Given the description of an element on the screen output the (x, y) to click on. 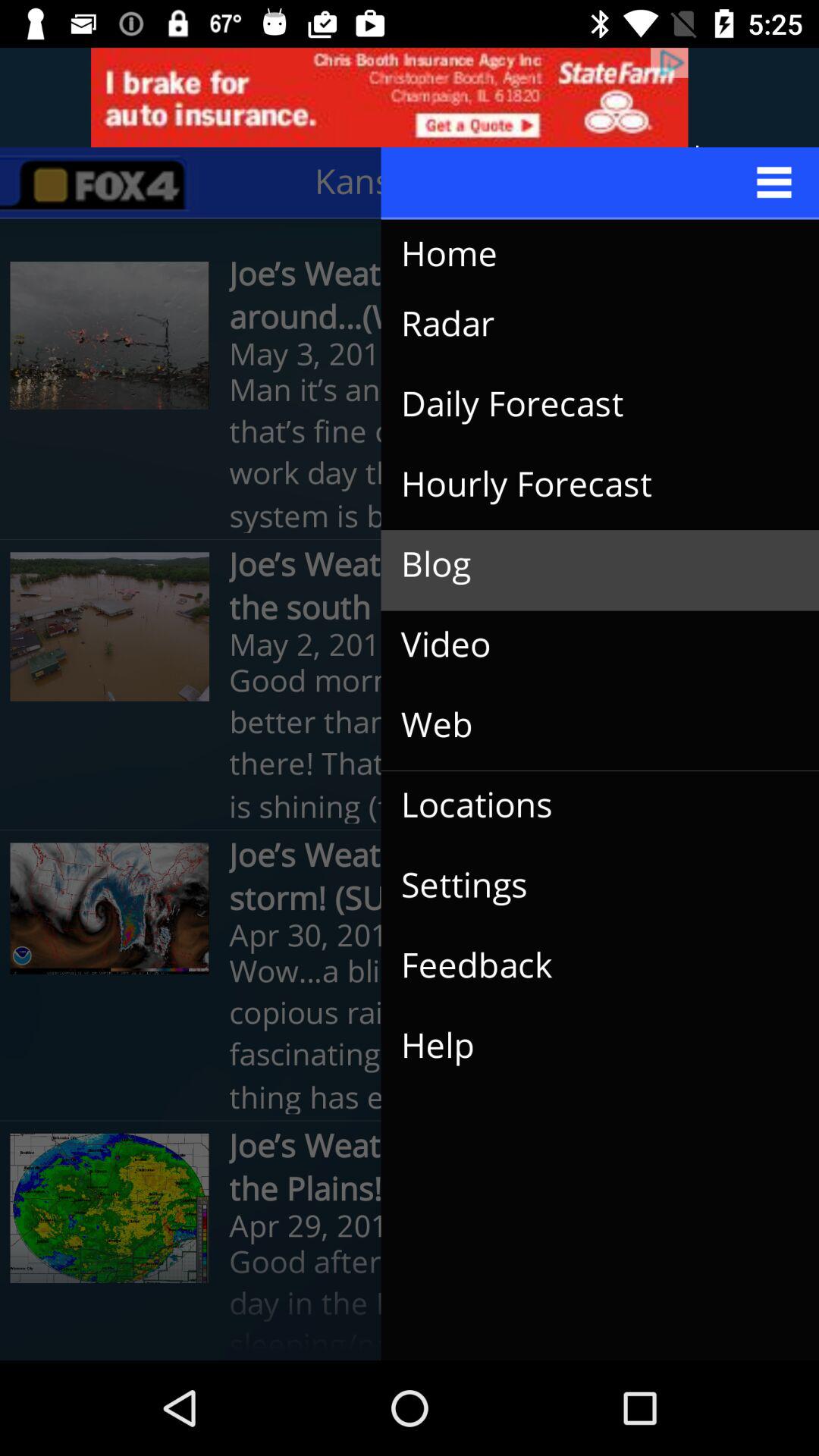
click the icon above the blog (587, 484)
